Given the description of an element on the screen output the (x, y) to click on. 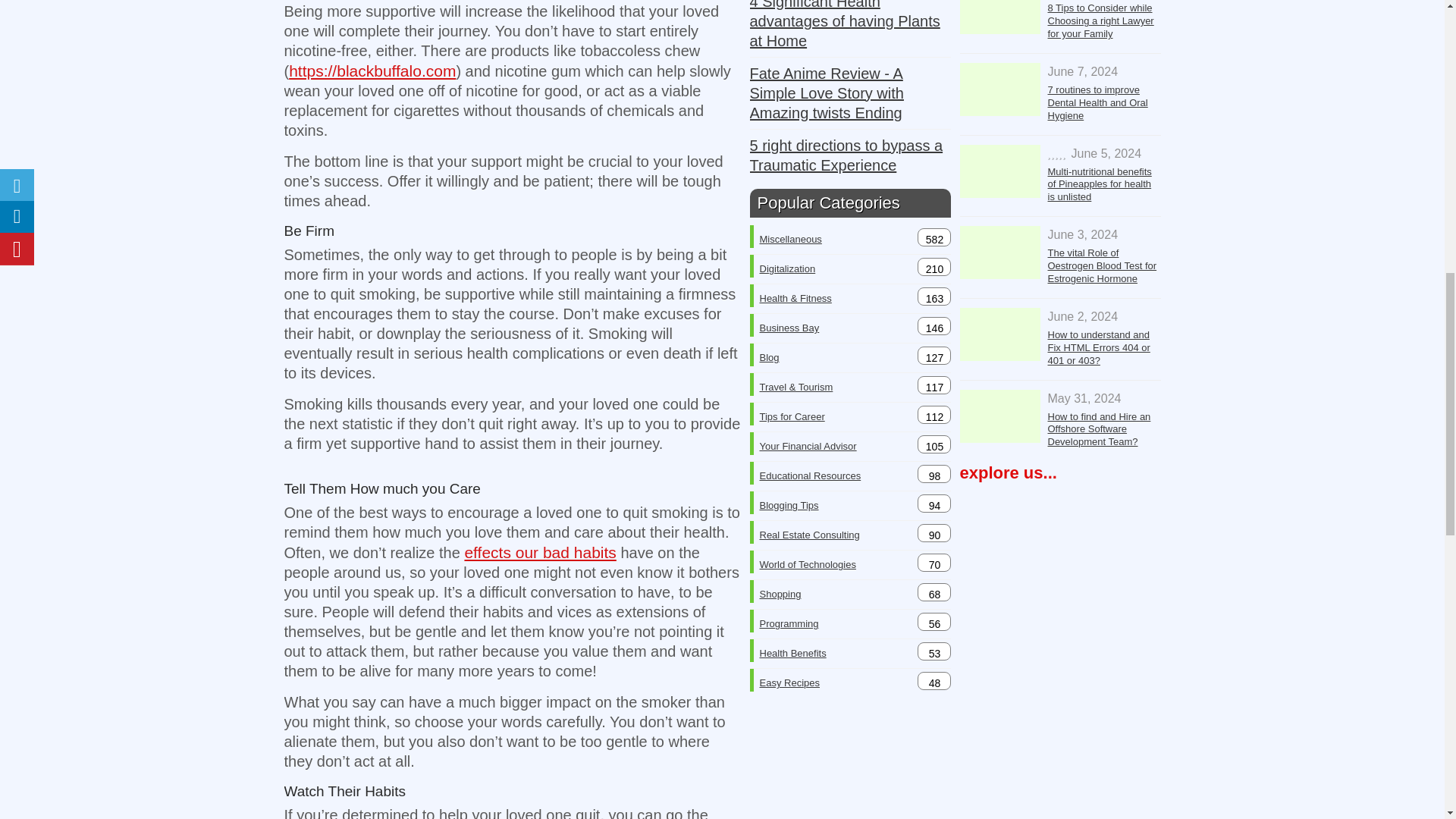
effects our bad habits (539, 552)
